Given the description of an element on the screen output the (x, y) to click on. 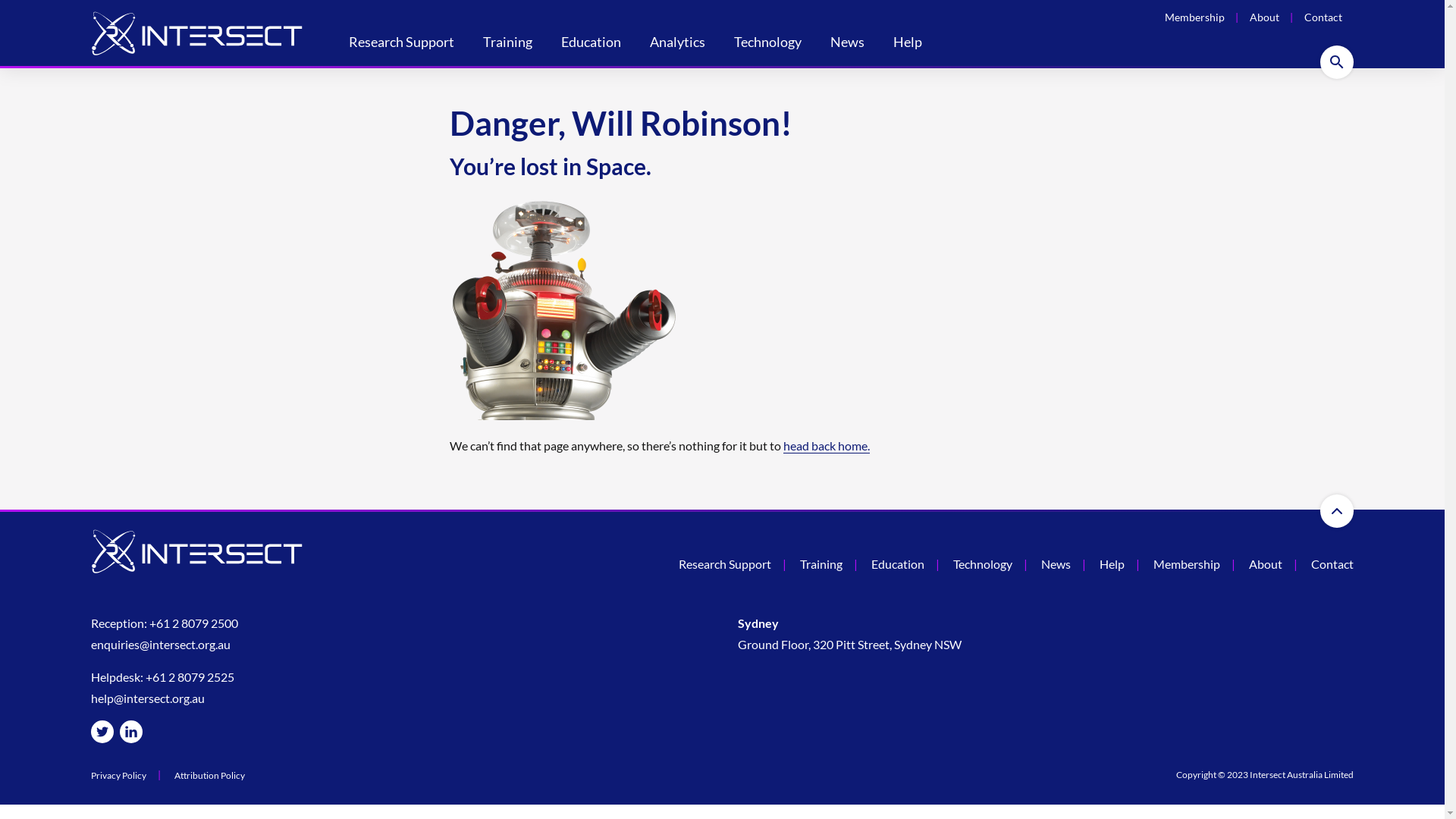
help@intersect.org.au Element type: text (147, 698)
Contact Element type: text (1332, 563)
+61 2 8079 2525 Element type: text (189, 676)
News Element type: text (1055, 563)
Research Support Element type: text (724, 563)
Privacy Policy Element type: text (118, 775)
About Element type: text (1264, 16)
Training Element type: text (507, 43)
Training Element type: text (821, 563)
+61 2 8079 2500 Element type: text (193, 622)
About Element type: text (1265, 563)
enquiries@intersect.org.au Element type: text (160, 644)
Education Element type: text (591, 43)
Research Support Element type: text (401, 43)
Contact Element type: text (1323, 16)
Attribution Policy Element type: text (209, 775)
Technology Element type: text (982, 563)
Analytics Element type: text (677, 43)
Help Element type: text (1111, 563)
Membership Element type: text (1194, 16)
head back home. Element type: text (825, 445)
Education Element type: text (897, 563)
Membership Element type: text (1186, 563)
Help Element type: text (907, 43)
News Element type: text (847, 43)
Technology Element type: text (767, 43)
